Given the description of an element on the screen output the (x, y) to click on. 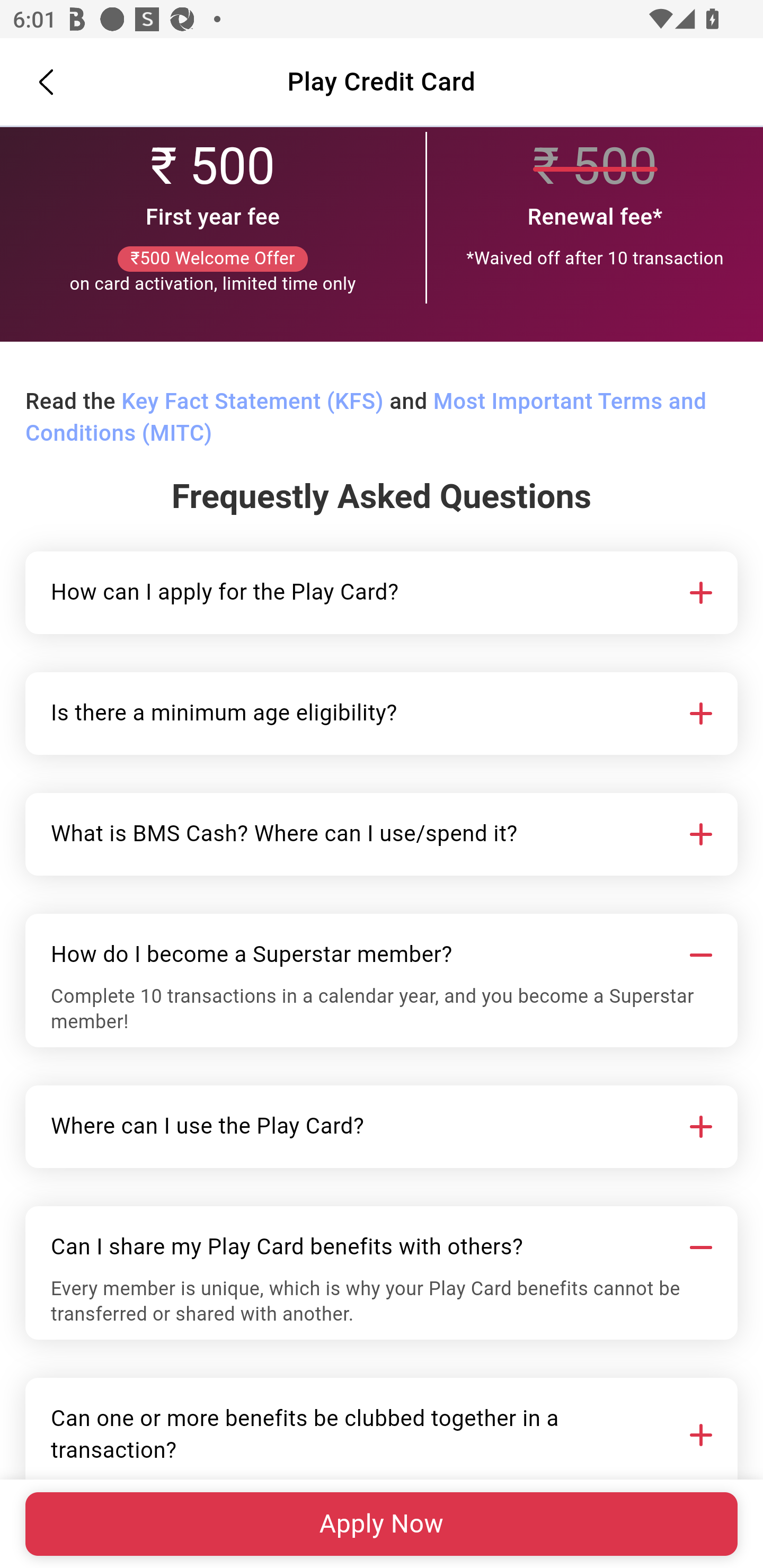
Most Important Terms and Conditions (MITC) (366, 418)
Key Fact Statement (KFS) (252, 402)
